Given the description of an element on the screen output the (x, y) to click on. 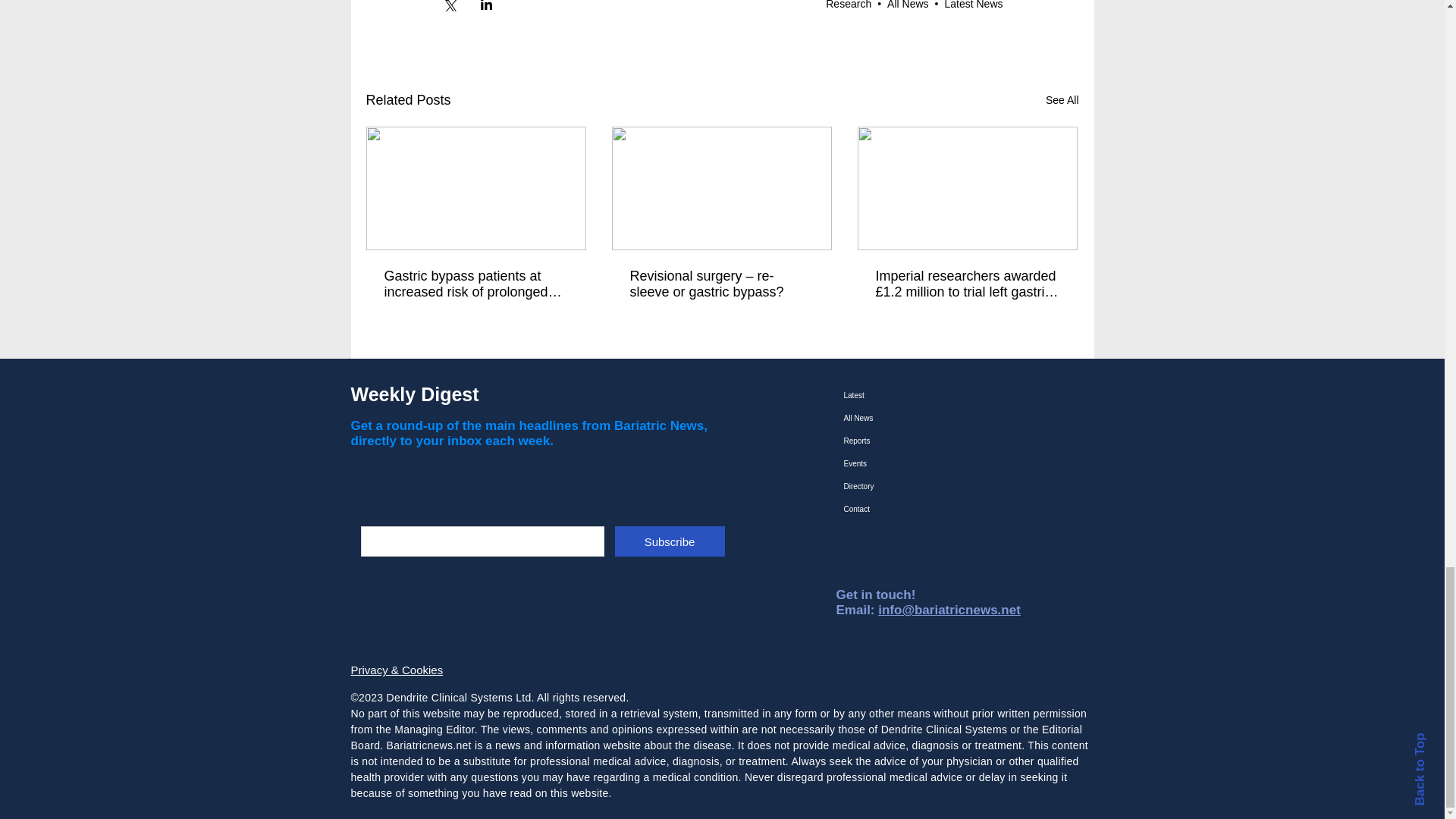
All News (907, 4)
See All (1061, 100)
Research (847, 4)
Latest News (973, 4)
Subscribe (668, 541)
